Given the description of an element on the screen output the (x, y) to click on. 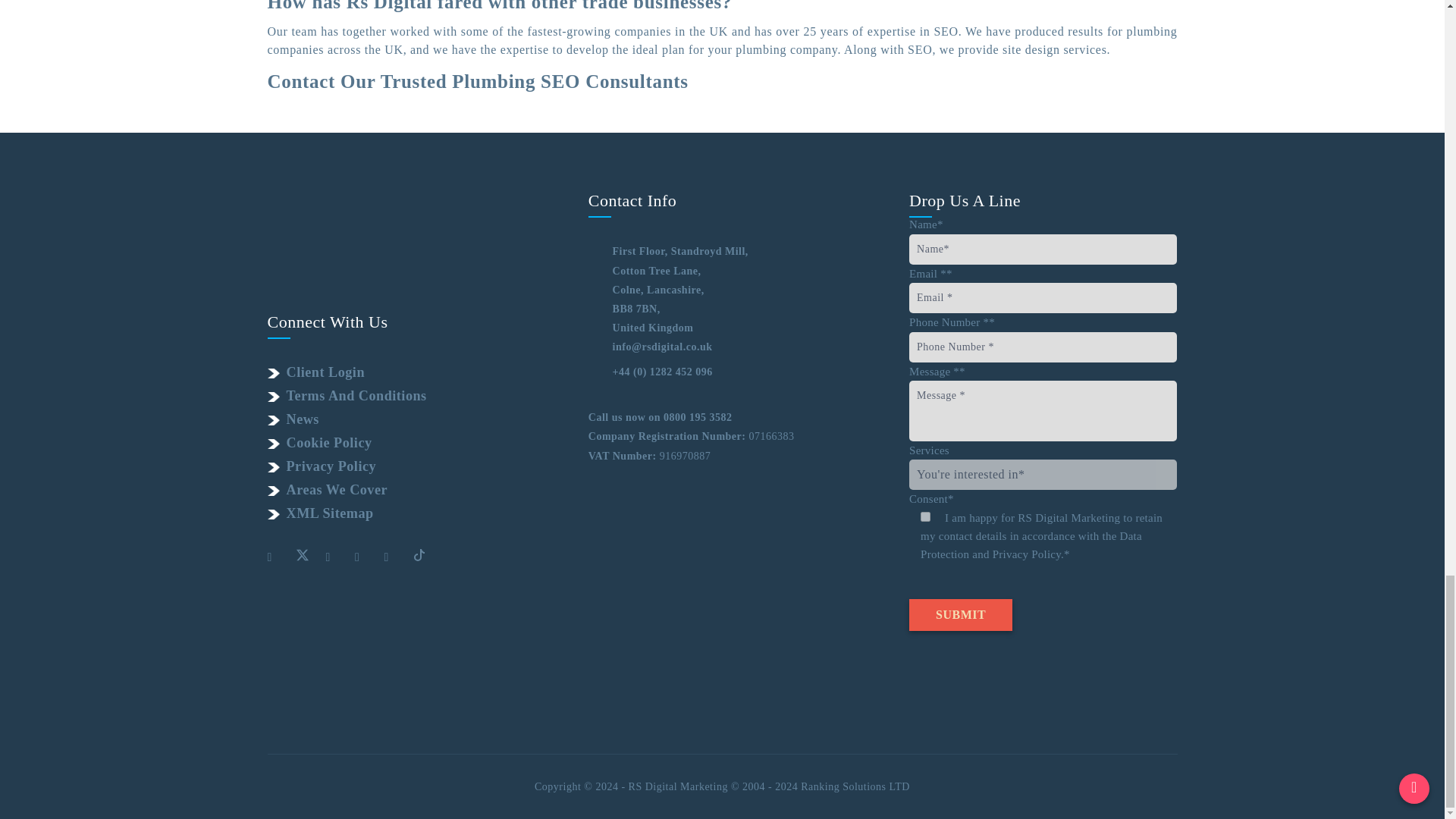
Submit (959, 614)
